Given the description of an element on the screen output the (x, y) to click on. 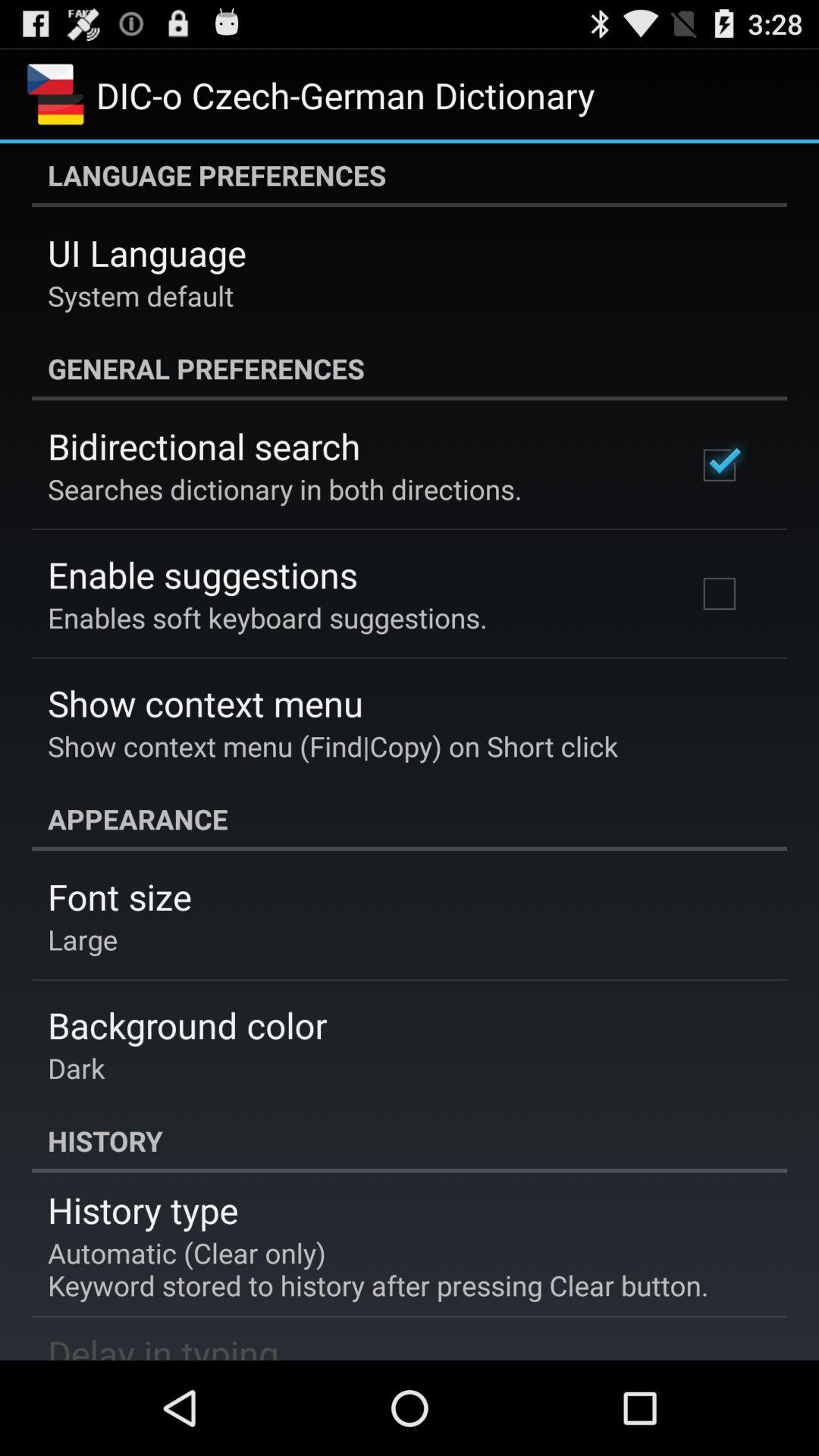
launch the icon below the ui language icon (140, 295)
